Given the description of an element on the screen output the (x, y) to click on. 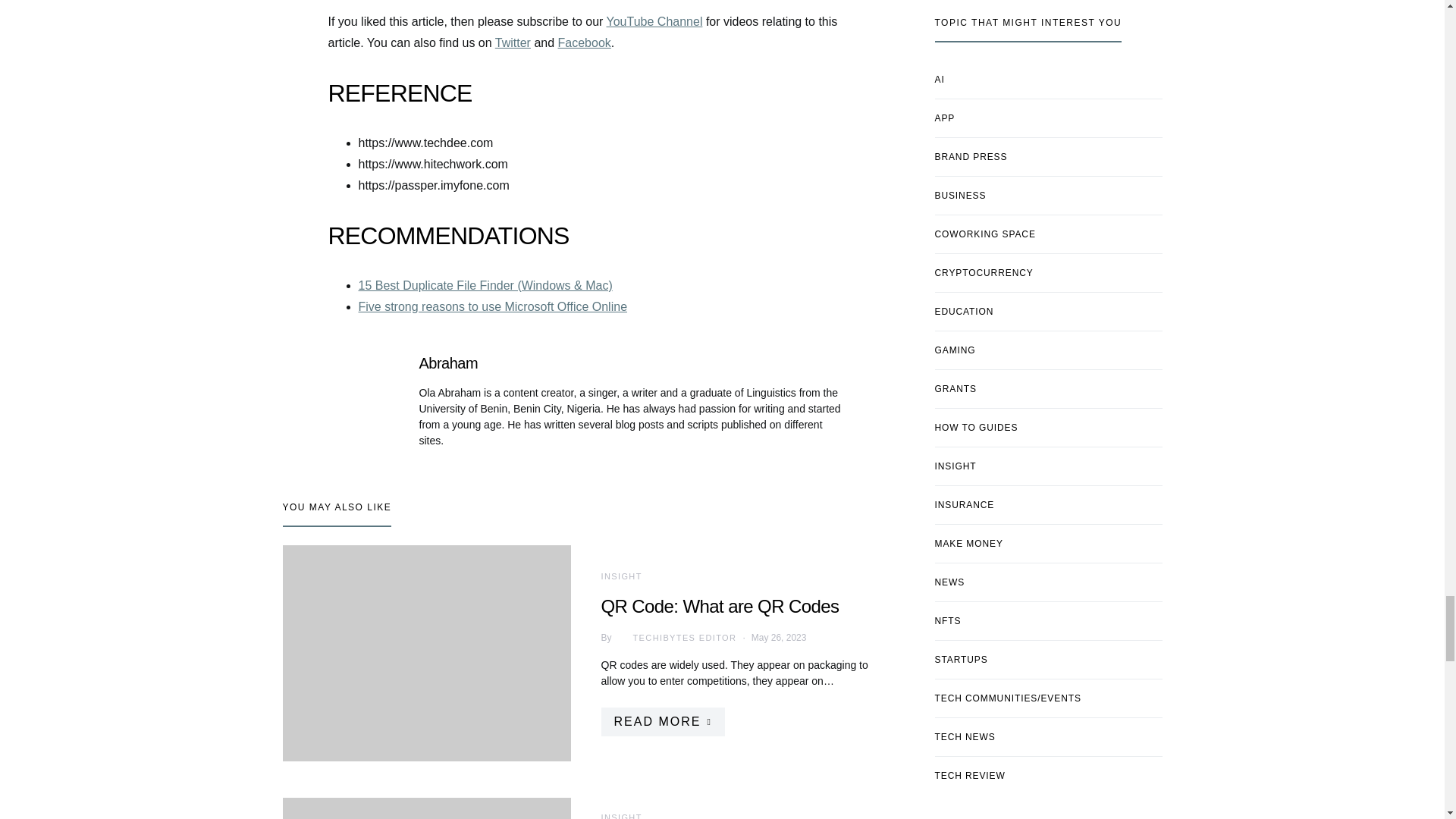
View all posts by Techibytes Editor (673, 637)
QR Code: What are QR Codes 5 (426, 653)
